Given the description of an element on the screen output the (x, y) to click on. 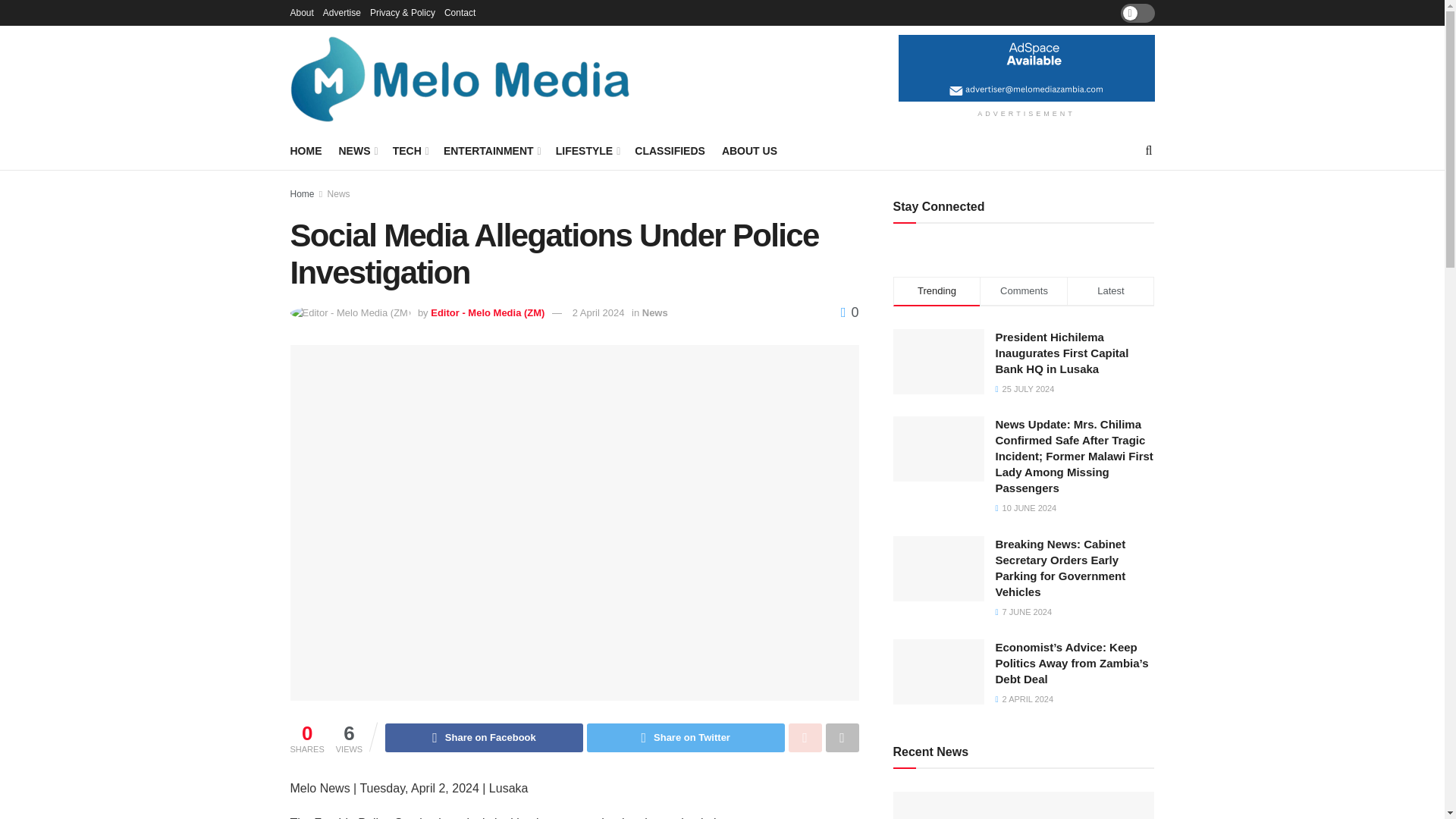
Advertise (342, 12)
ENTERTAINMENT (491, 150)
HOME (305, 150)
TECH (409, 150)
Contact (460, 12)
About (301, 12)
NEWS (356, 150)
